Given the description of an element on the screen output the (x, y) to click on. 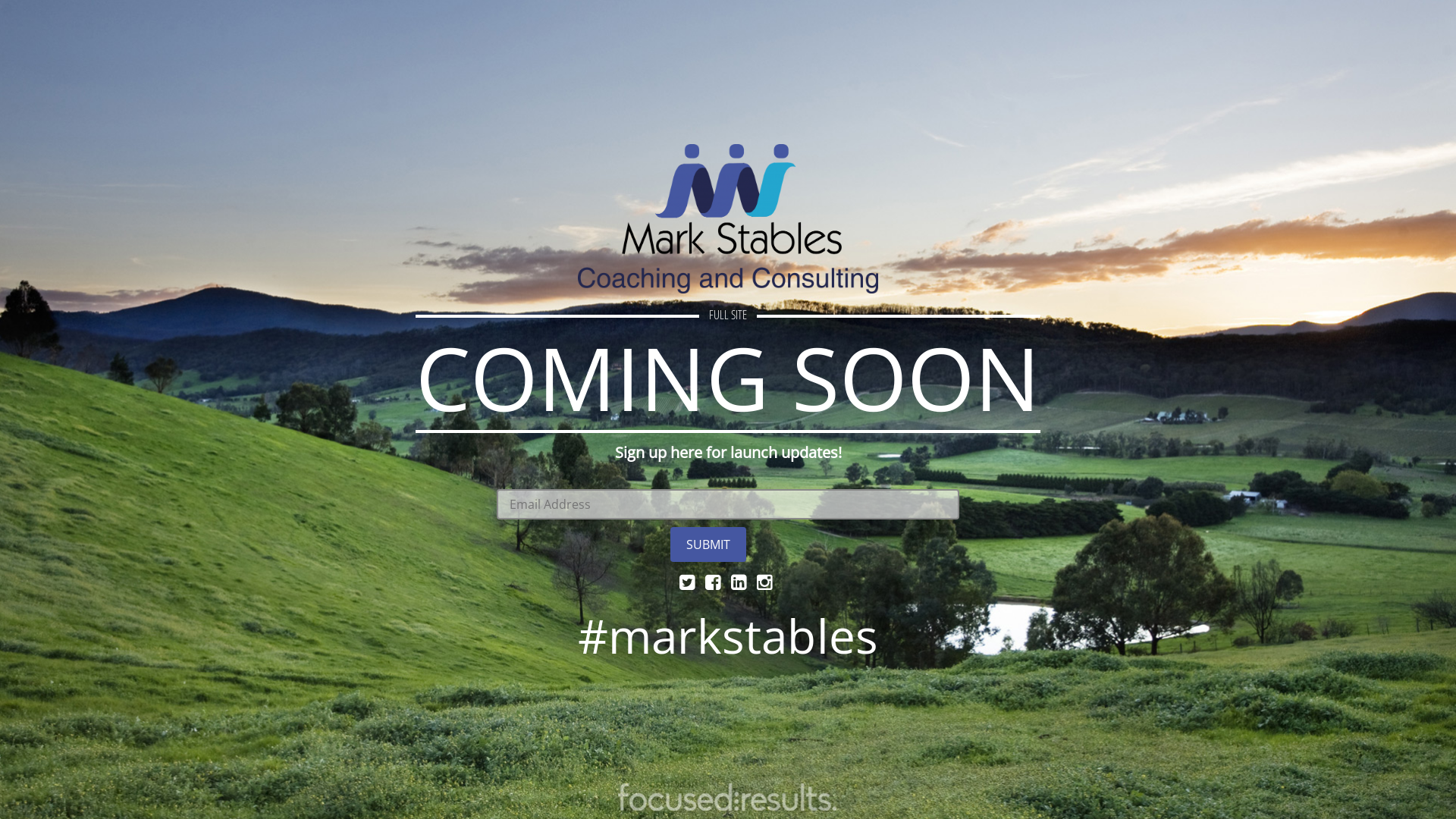
SUBMIT Element type: text (708, 544)
